Given the description of an element on the screen output the (x, y) to click on. 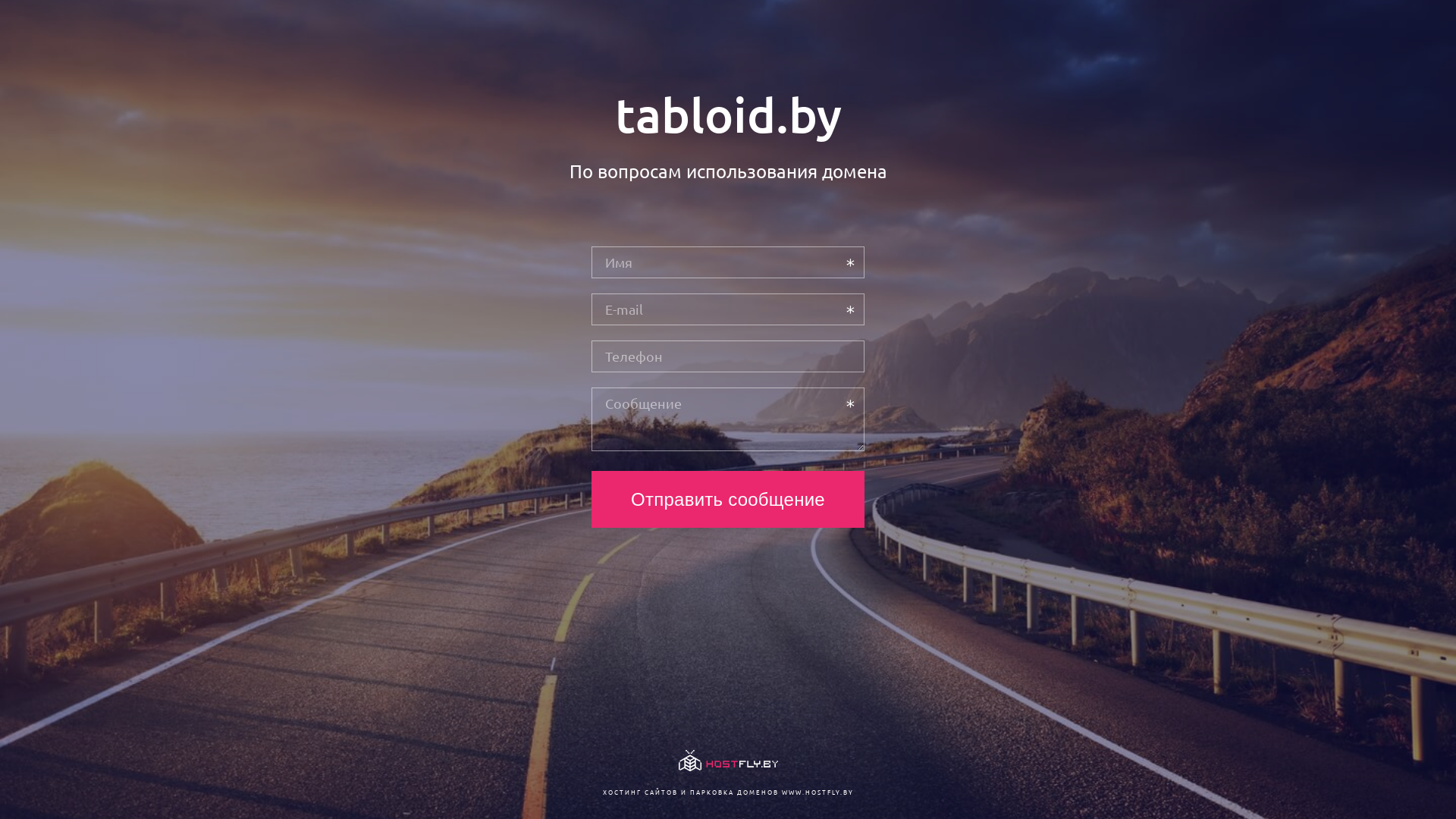
WWW.HOSTFLY.BY Element type: text (817, 791)
